Given the description of an element on the screen output the (x, y) to click on. 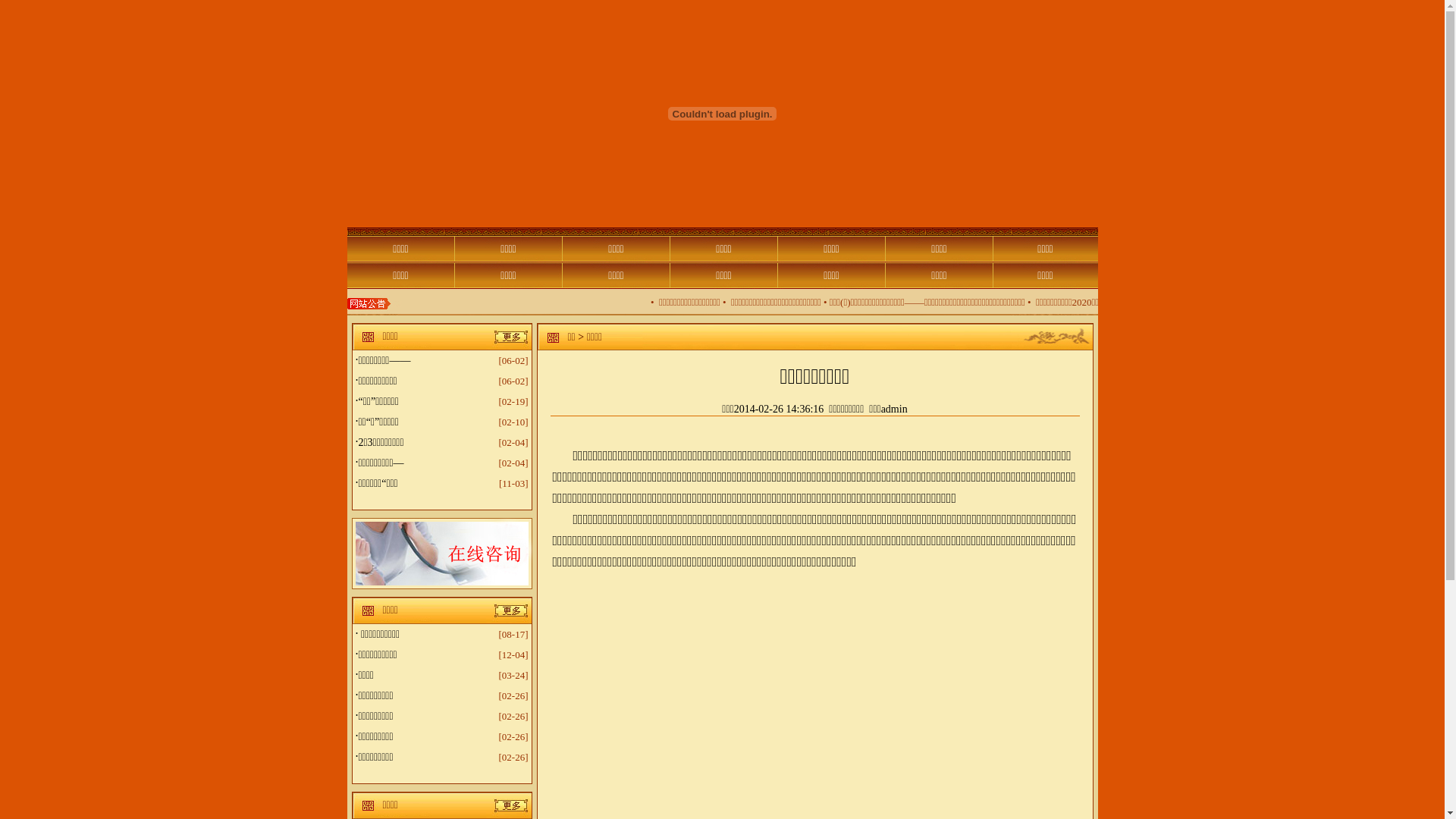
admin Element type: text (894, 408)
